Given the description of an element on the screen output the (x, y) to click on. 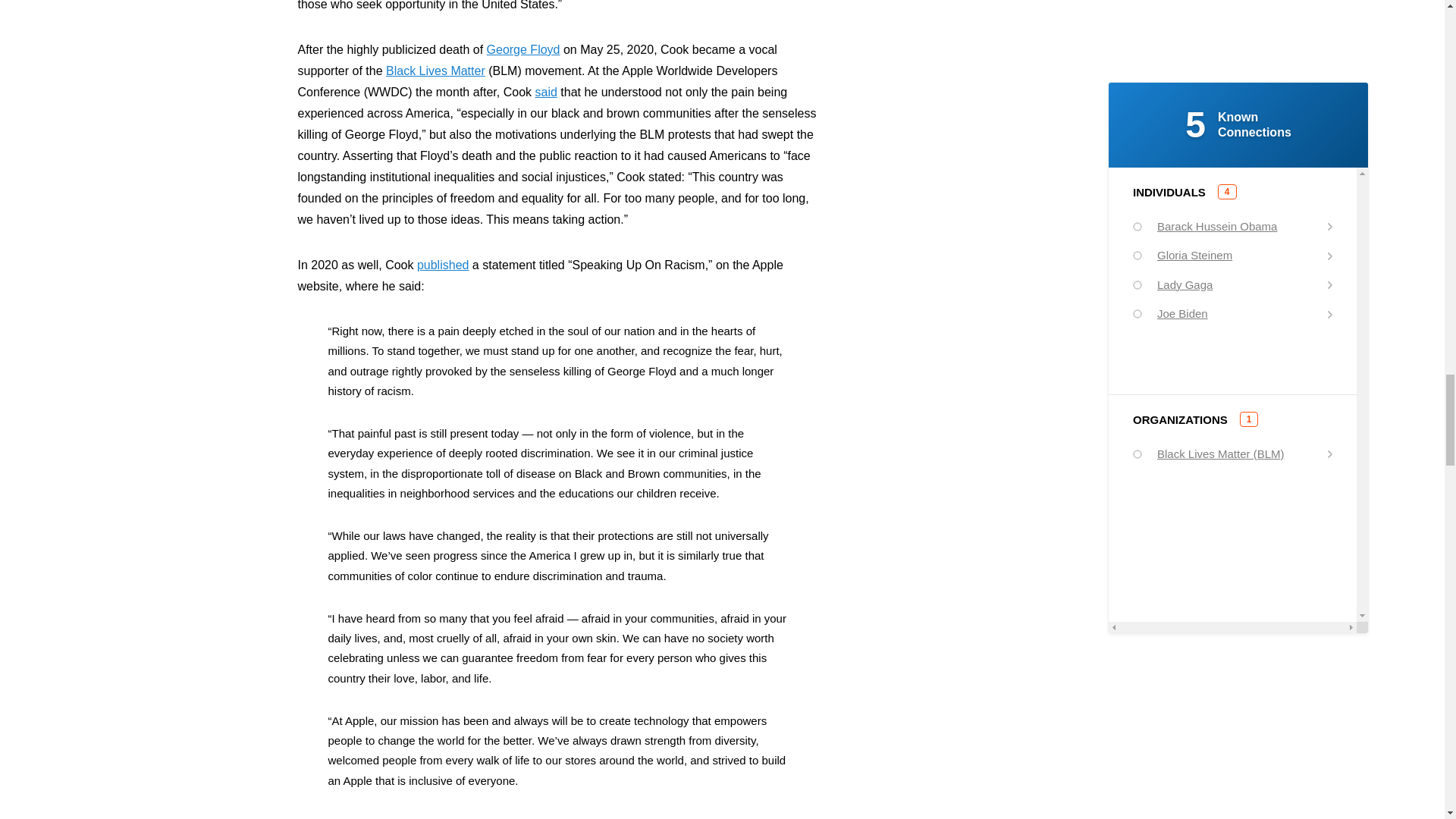
Black Lives Matter (434, 70)
published (442, 264)
George Floyd (523, 49)
said (546, 91)
